Given the description of an element on the screen output the (x, y) to click on. 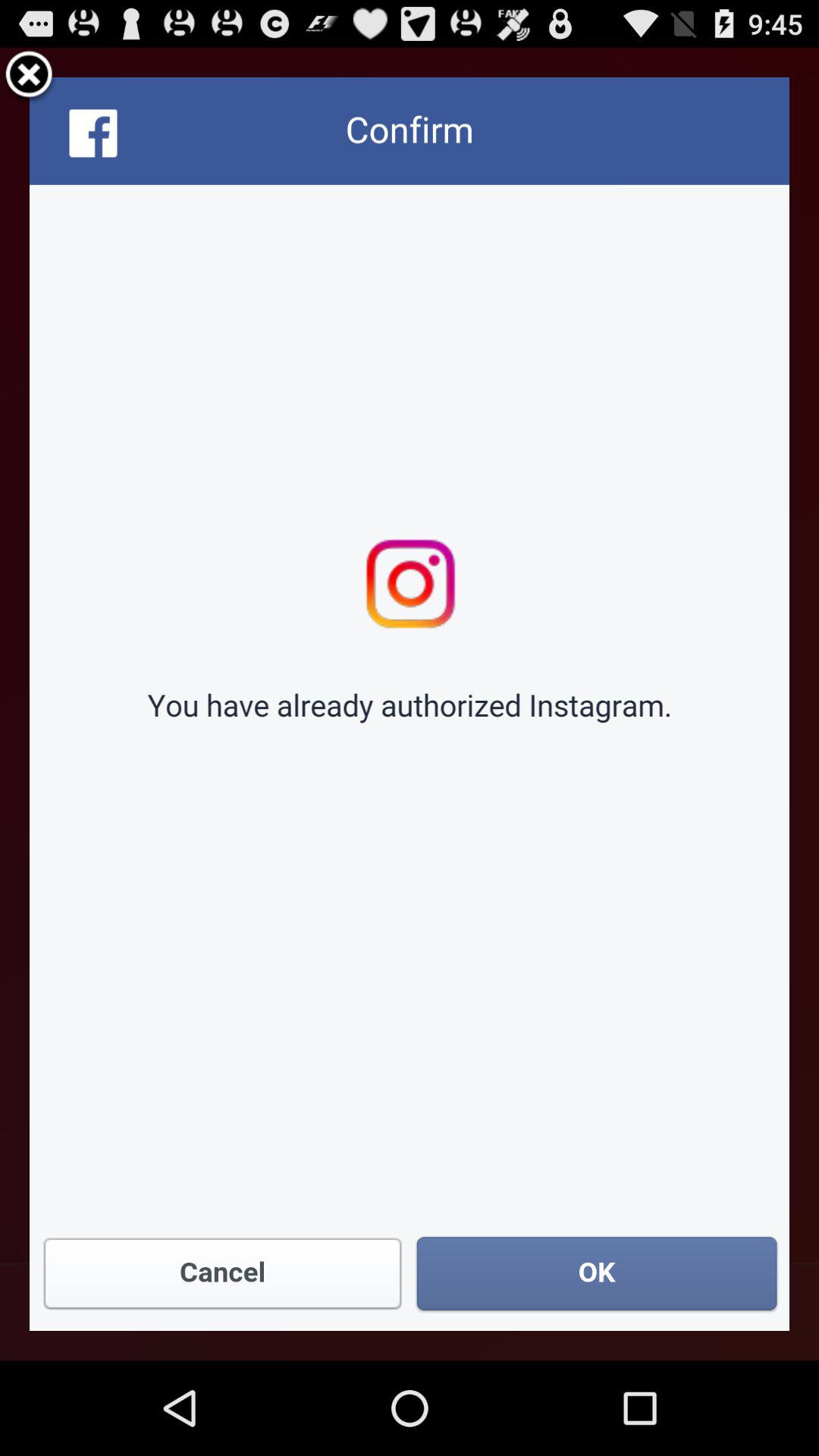
instagram page (409, 703)
